Given the description of an element on the screen output the (x, y) to click on. 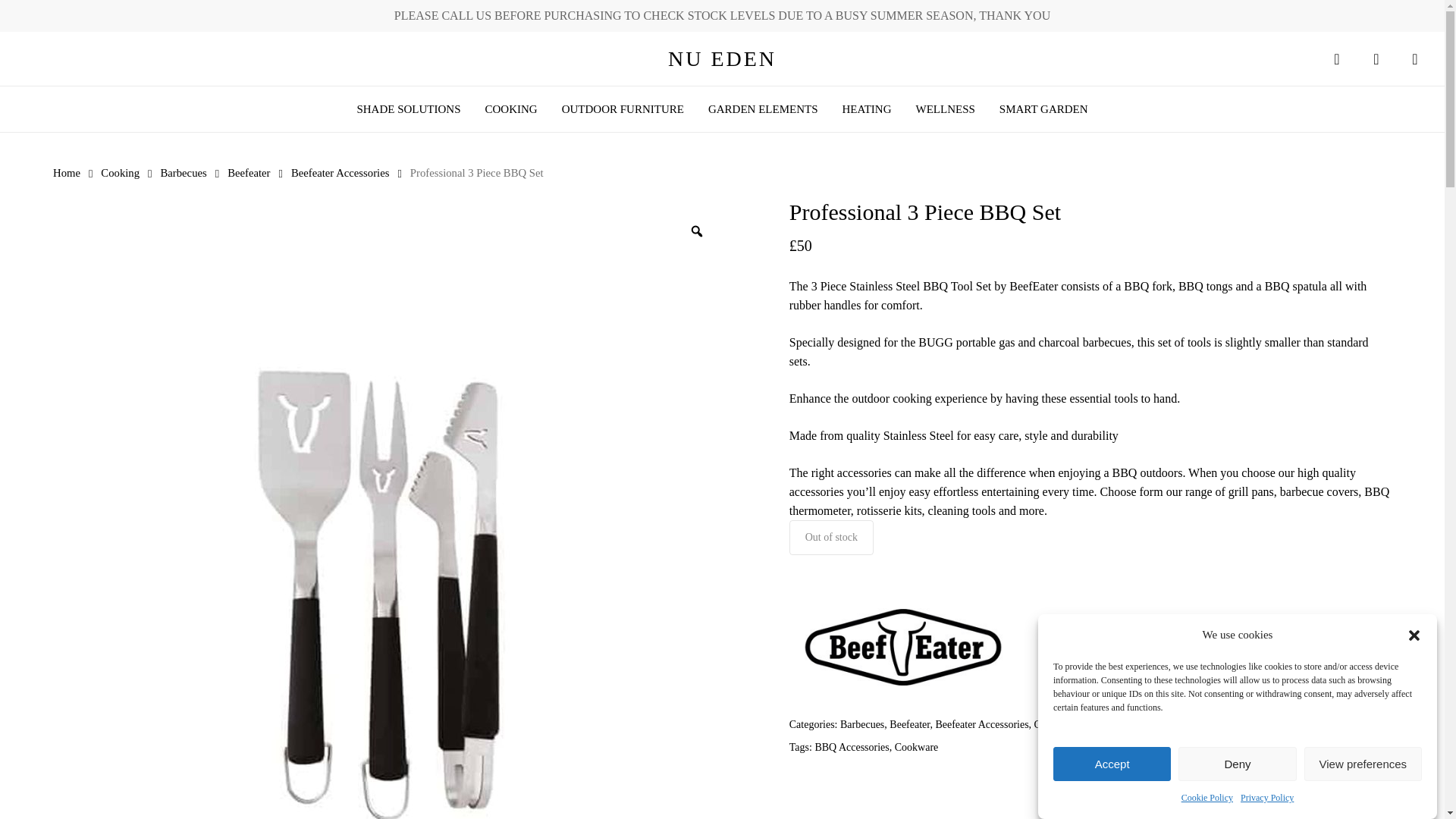
NU EDEN (722, 58)
COOKING (510, 109)
SHADE SOLUTIONS (408, 109)
Beefeater (902, 649)
account (1376, 59)
3-PIECE-BBQ-SET (26, 393)
search (1336, 59)
